Given the description of an element on the screen output the (x, y) to click on. 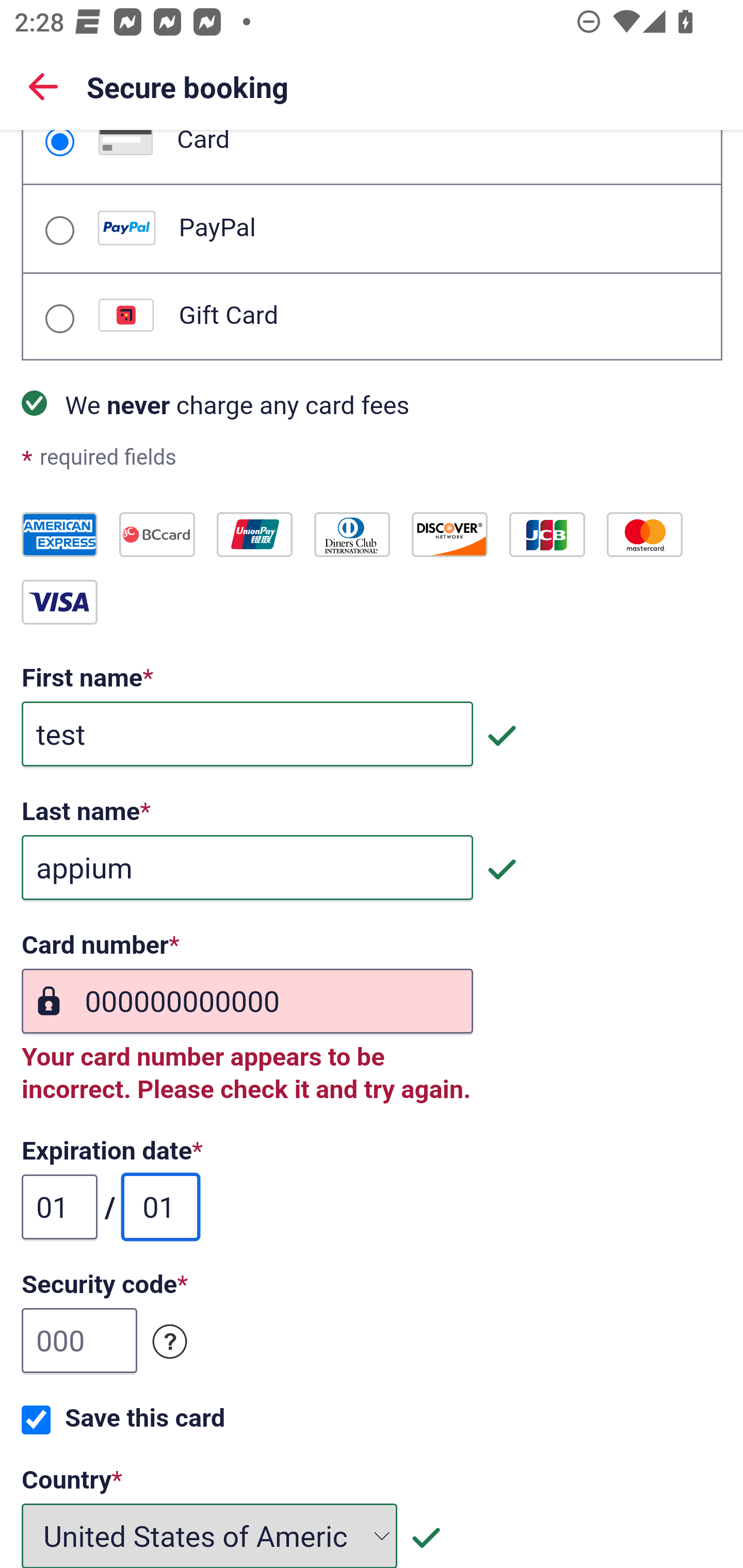
Back (43, 86)
Card (59, 143)
PayPal (59, 230)
Gift Card (59, 318)
test (247, 734)
appium (247, 868)
000000000000 (247, 1001)
01 (59, 1206)
01 (159, 1206)
Security code (170, 1342)
Save this card (36, 1420)
United States of America (209, 1535)
